Given the description of an element on the screen output the (x, y) to click on. 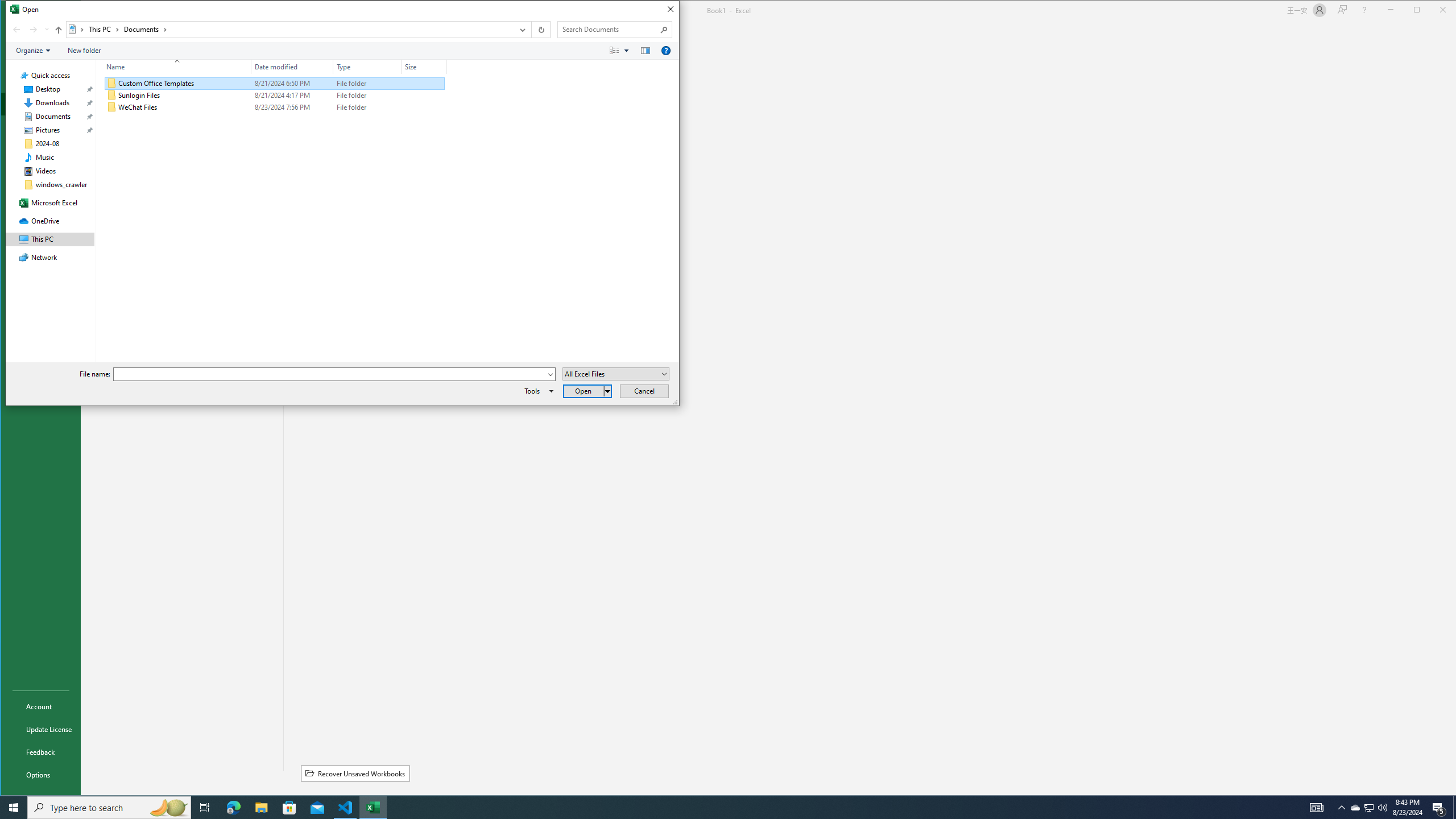
Microsoft Edge (233, 807)
File name: (334, 373)
Search Box (609, 29)
Account (40, 706)
Type (367, 107)
Options (40, 774)
Visual Studio Code - 1 running window (345, 807)
Preview pane (645, 50)
Tools (537, 390)
Feedback (40, 751)
Custom Office Templates (274, 83)
Up band toolbar (58, 31)
Excel - 1 running window (373, 807)
Views (621, 50)
Address: Documents (289, 29)
